Given the description of an element on the screen output the (x, y) to click on. 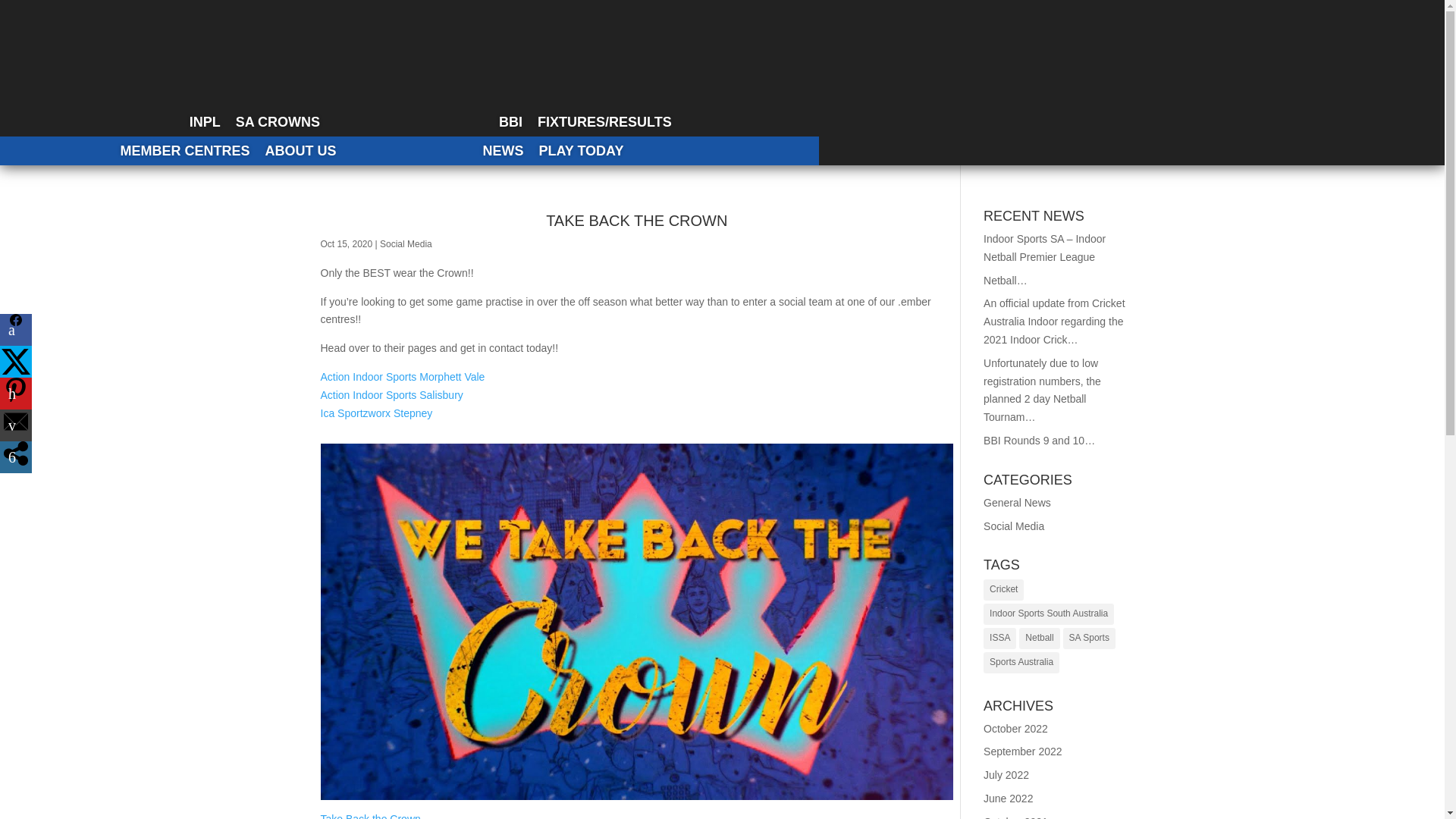
MEMBER CENTRES (185, 150)
NEWS (502, 150)
INPL (205, 121)
SA CROWNS (277, 121)
ABOUT US (300, 150)
PLAY TODAY (580, 150)
BBI (510, 121)
